Given the description of an element on the screen output the (x, y) to click on. 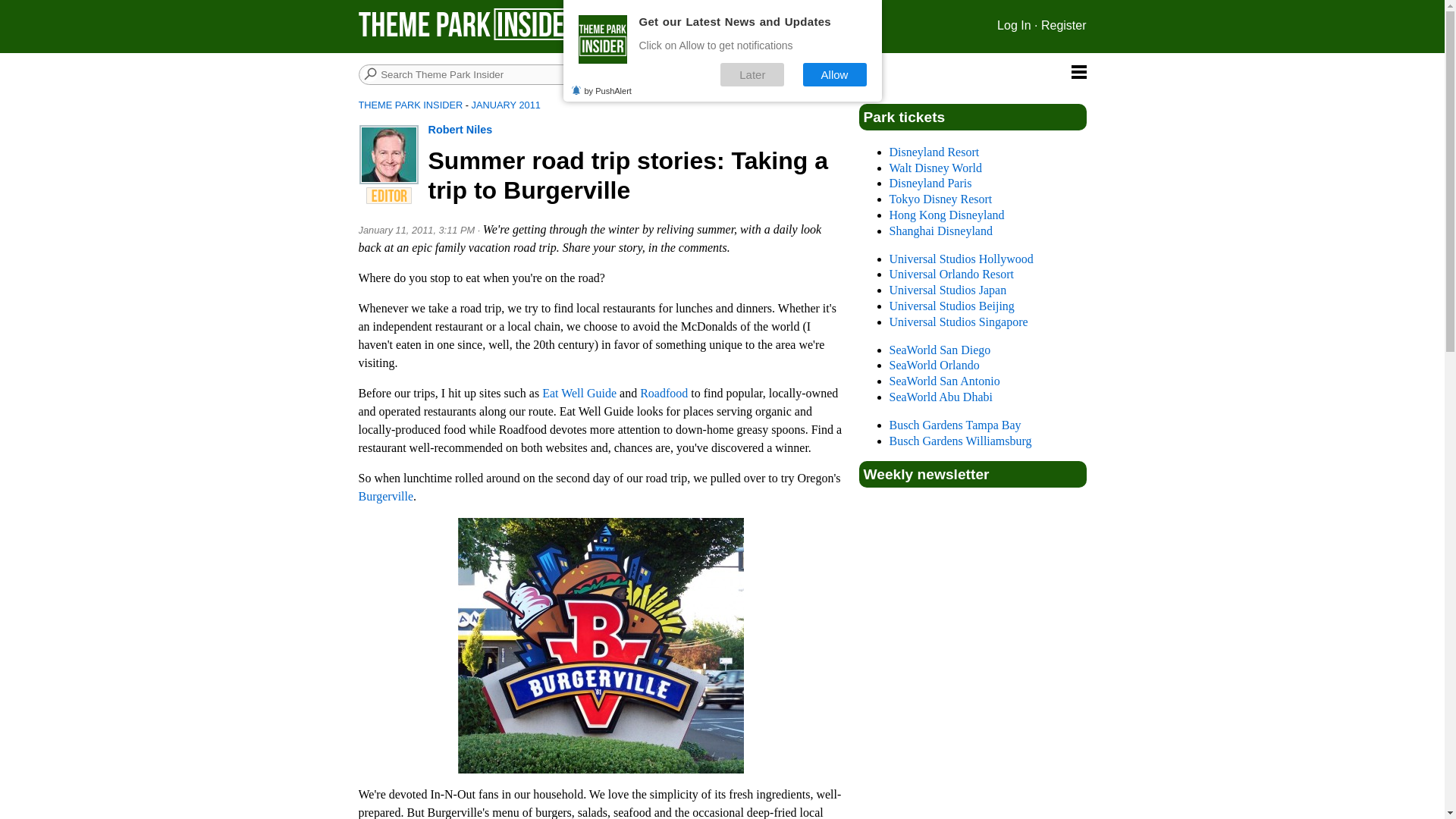
Register (1063, 24)
Disneyland Paris (929, 182)
Robert Niles (460, 129)
Universal Orlando Resort (950, 273)
Log In (1013, 24)
SeaWorld Orlando (933, 364)
Universal Studios Singapore (957, 321)
Theme Park Insider (470, 23)
Disneyland Resort (933, 151)
Theme Park Insider (470, 36)
Eat Well Guide (578, 392)
Busch Gardens Tampa Bay (954, 424)
THEME PARK INSIDER (410, 104)
Shanghai Disneyland (939, 230)
SeaWorld San Diego (939, 349)
